Given the description of an element on the screen output the (x, y) to click on. 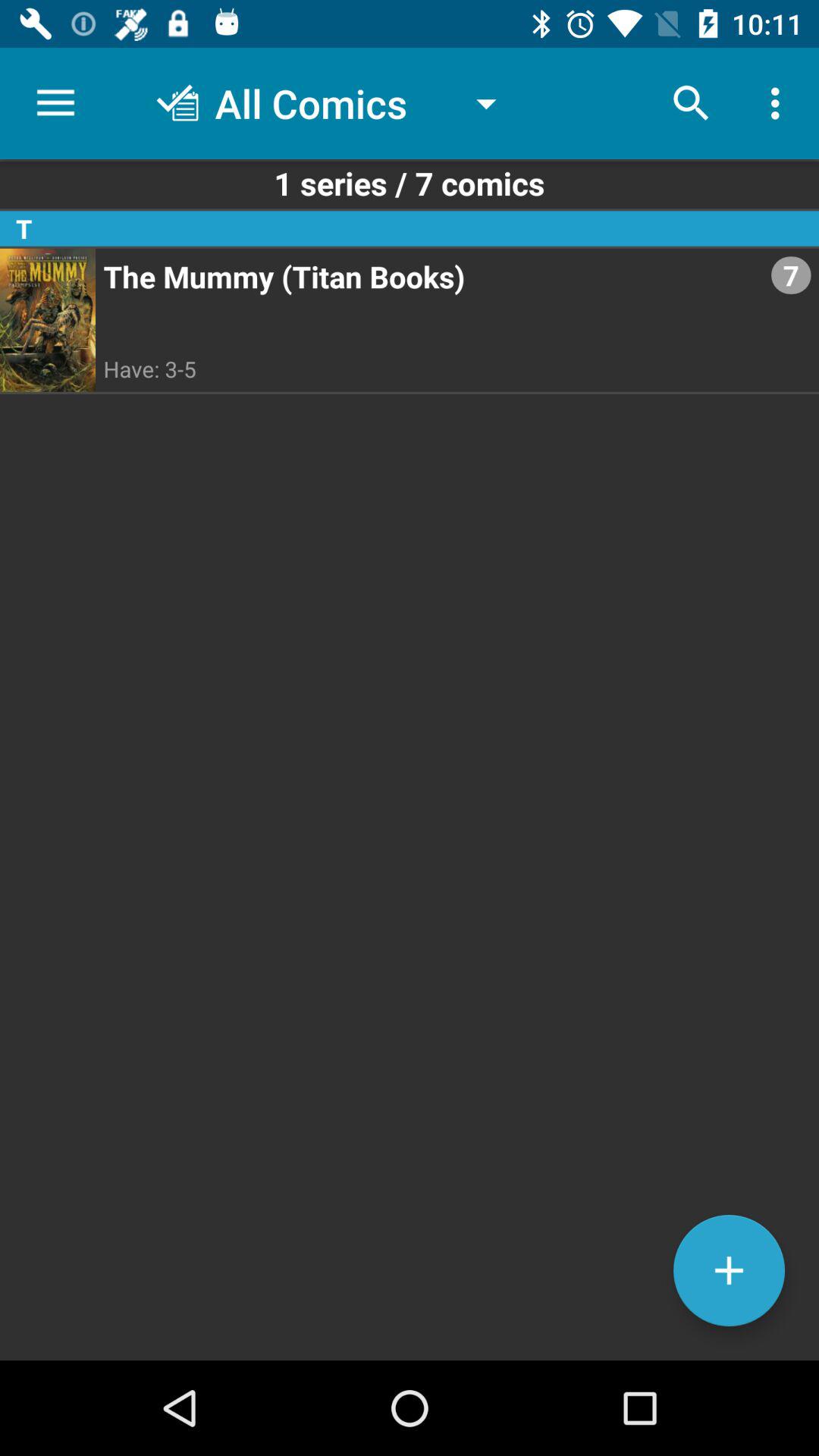
choose icon above the 1 series 7 item (691, 103)
